Given the description of an element on the screen output the (x, y) to click on. 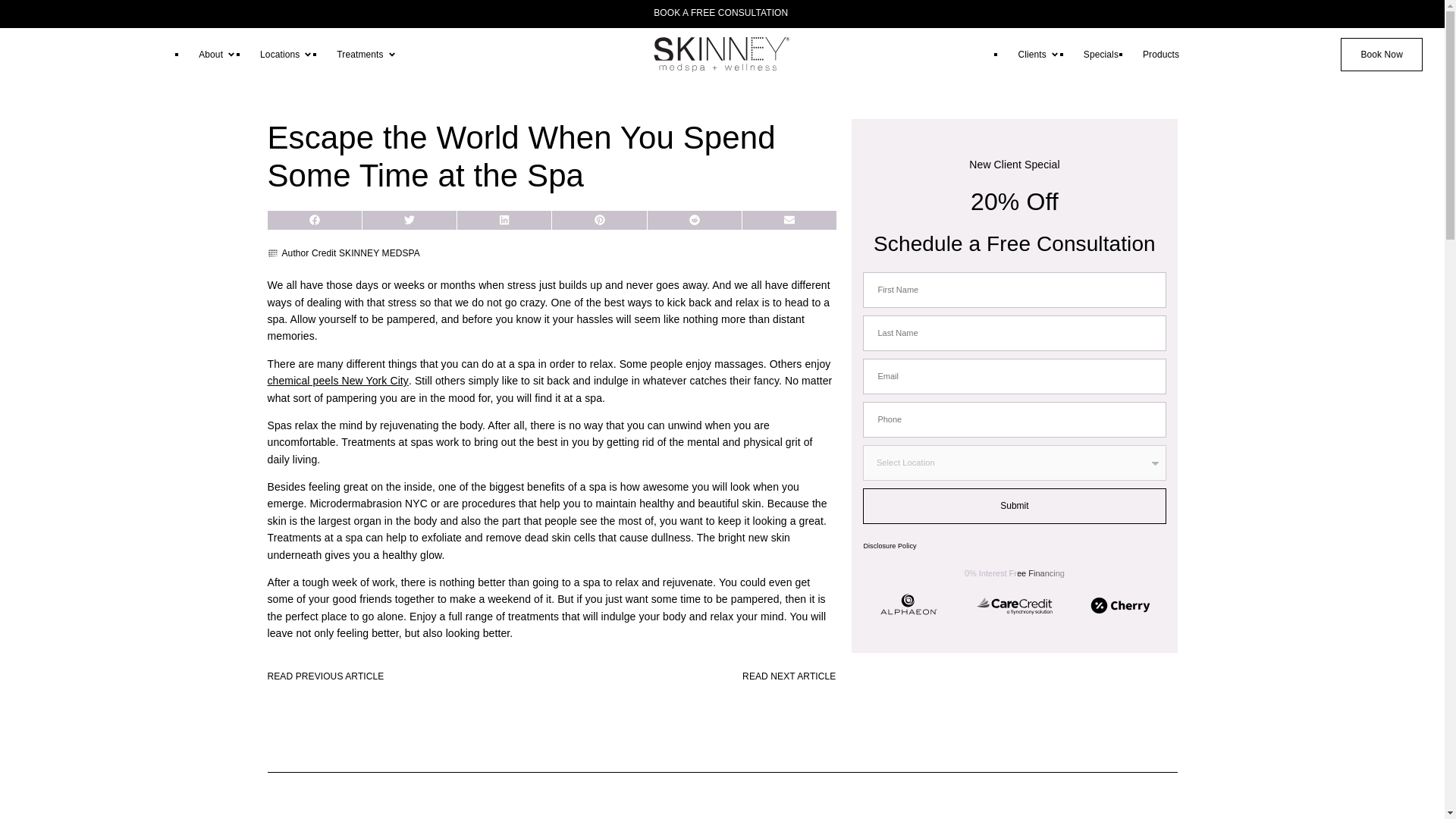
BOOK A FREE CONSULTATION  (722, 12)
